Given the description of an element on the screen output the (x, y) to click on. 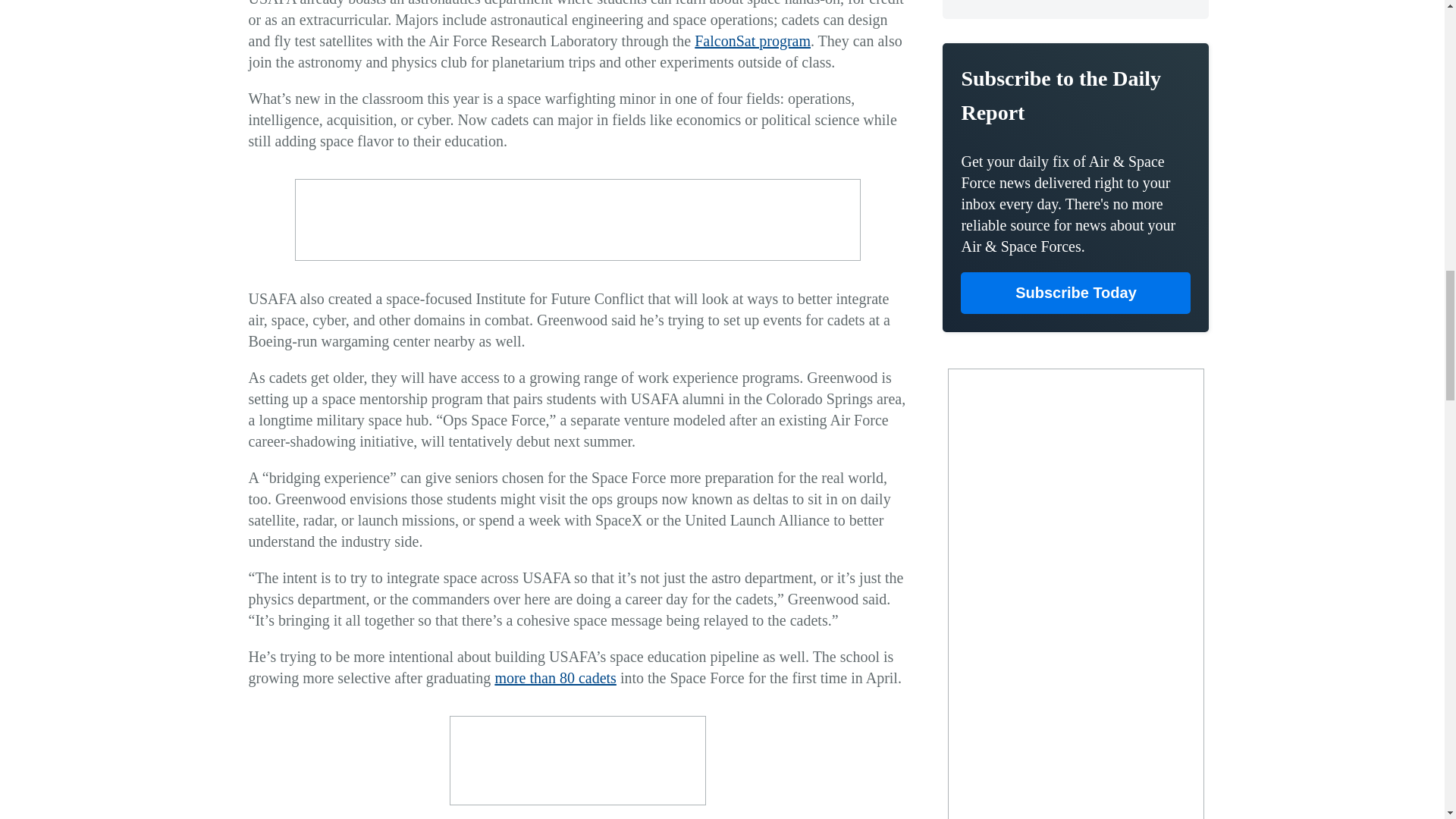
3rd party ad content (577, 219)
3rd party ad content (577, 760)
